Given the description of an element on the screen output the (x, y) to click on. 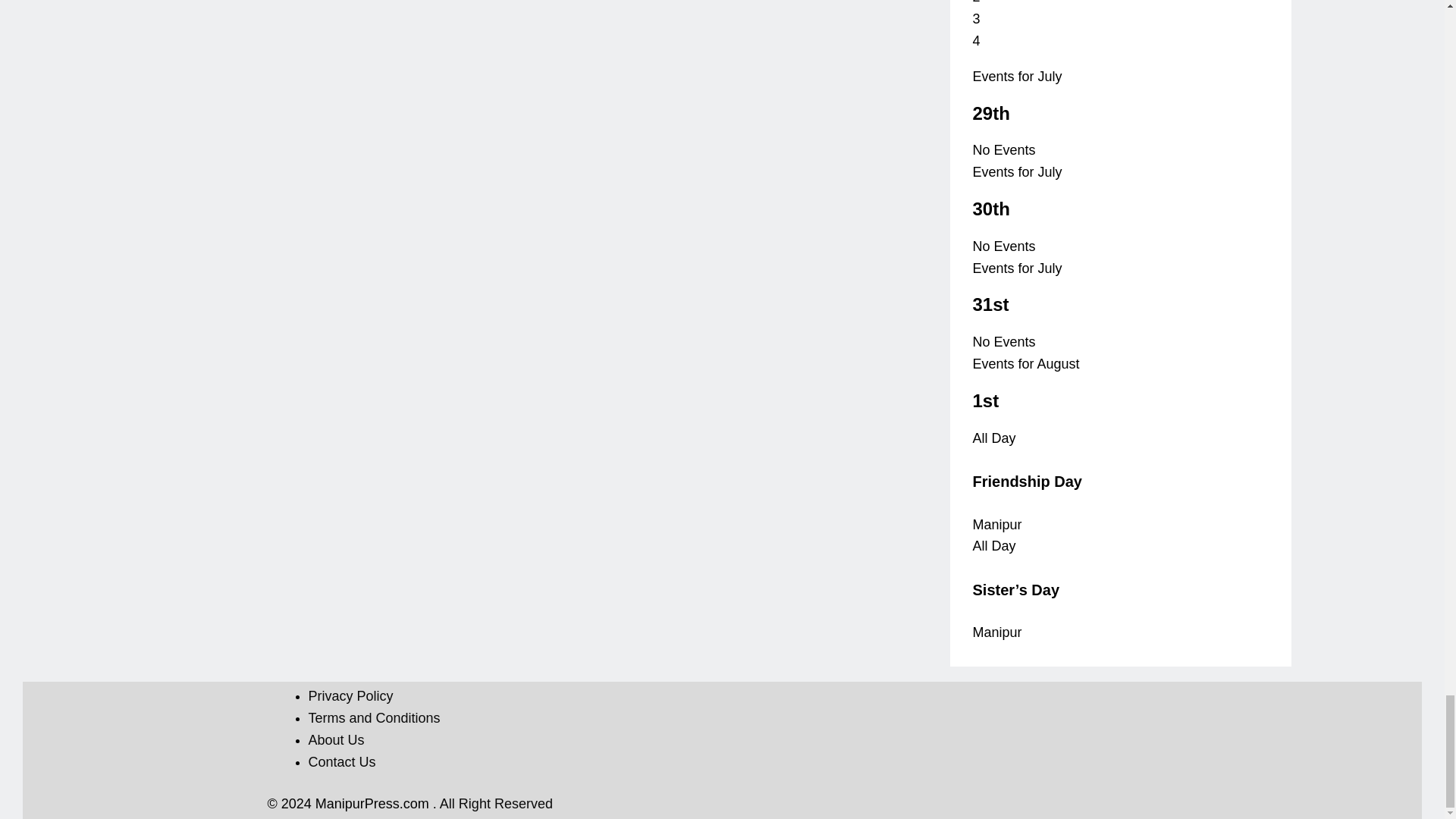
About Us (335, 739)
Friendship Day (1026, 481)
Terms and Conditions (373, 717)
. All Right Reserved (492, 803)
Privacy Policy (350, 695)
Contact Us (341, 761)
